Given the description of an element on the screen output the (x, y) to click on. 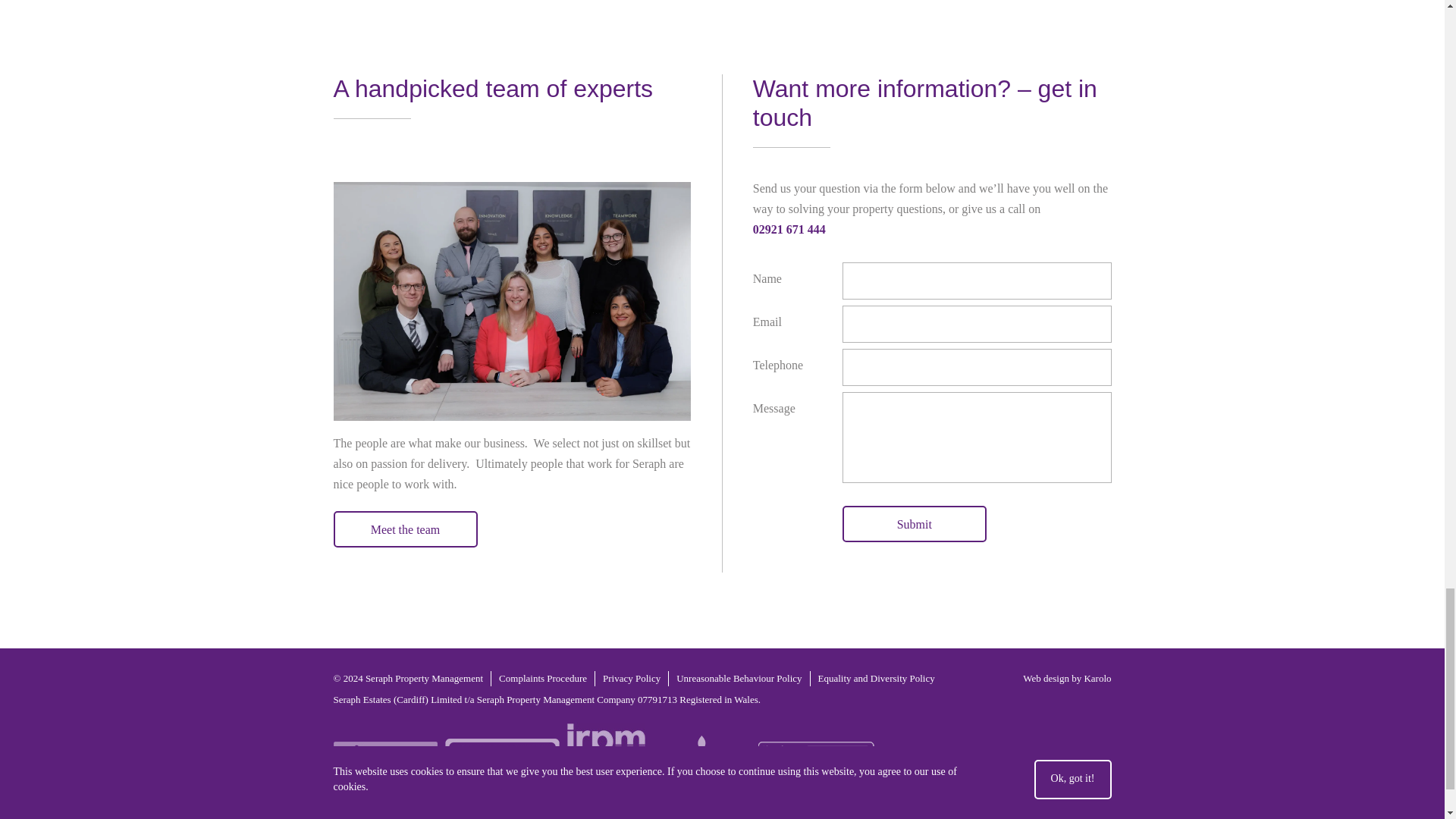
Submit (915, 524)
